Given the description of an element on the screen output the (x, y) to click on. 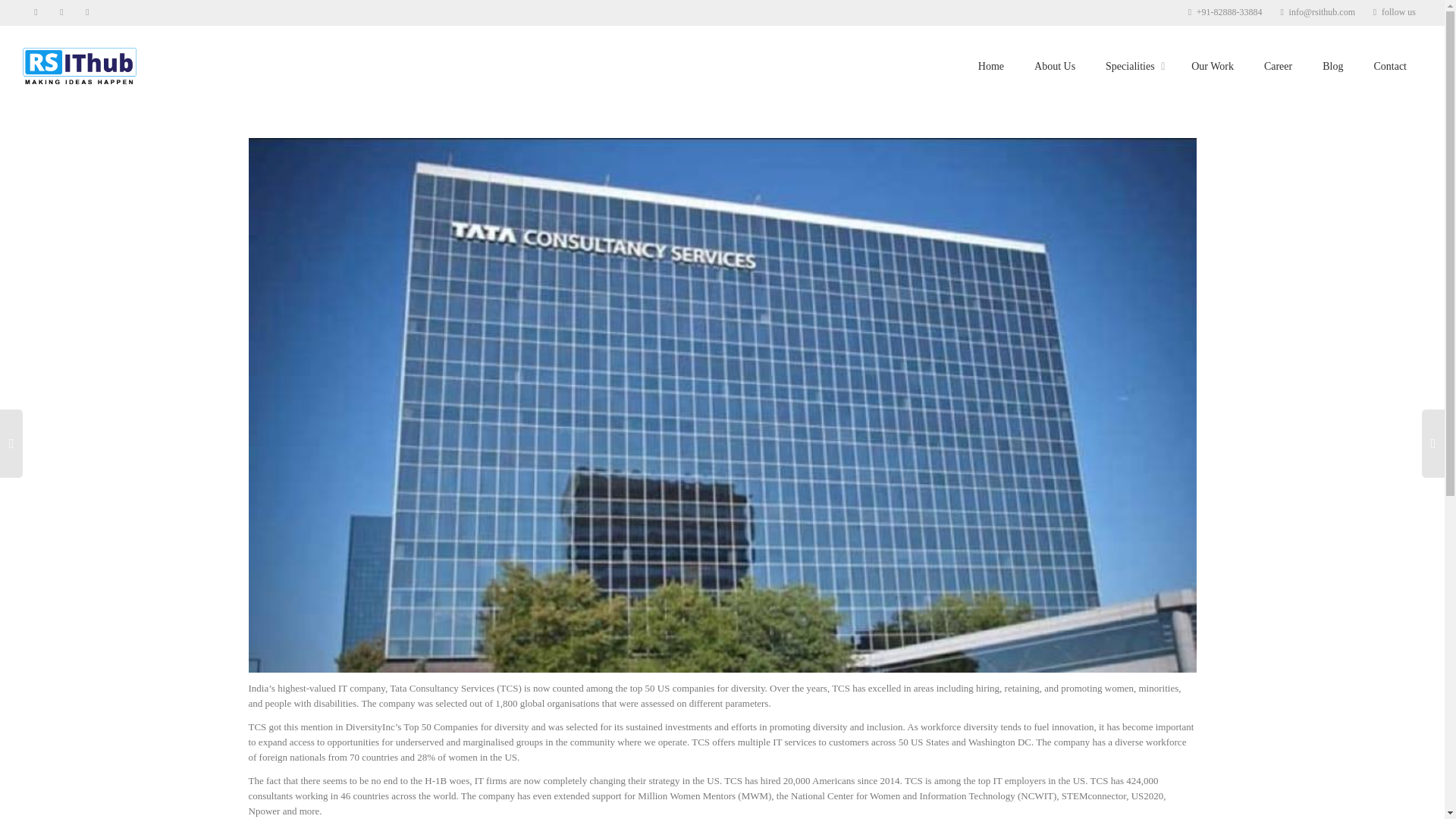
RS IT Hub (79, 65)
follow us (1393, 12)
follow us (1393, 12)
